Given the description of an element on the screen output the (x, y) to click on. 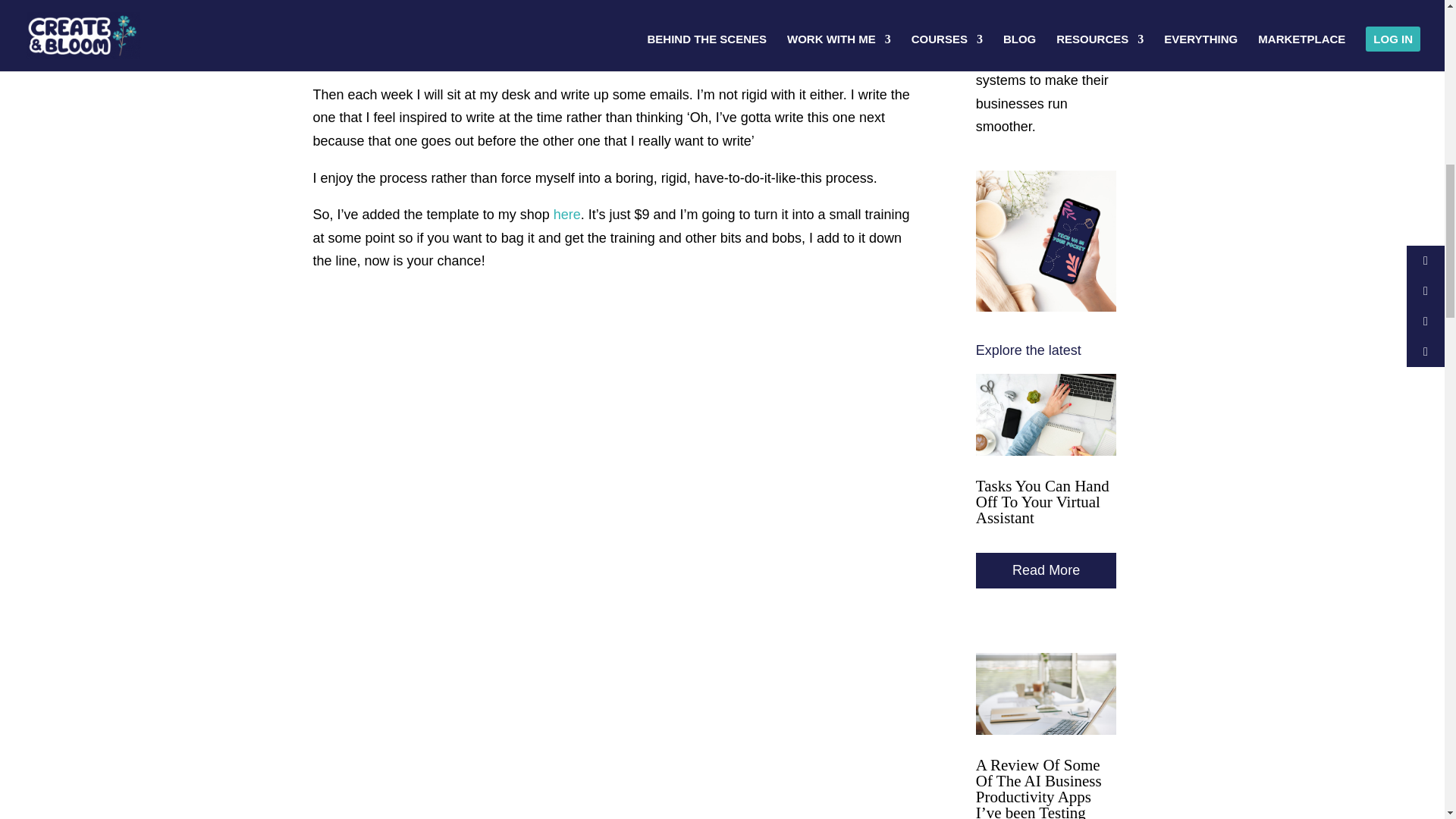
Read More (1045, 570)
here (566, 214)
Tasks You Can Hand Off To Your Virtual Assistant (1042, 501)
TVA (1045, 241)
